Given the description of an element on the screen output the (x, y) to click on. 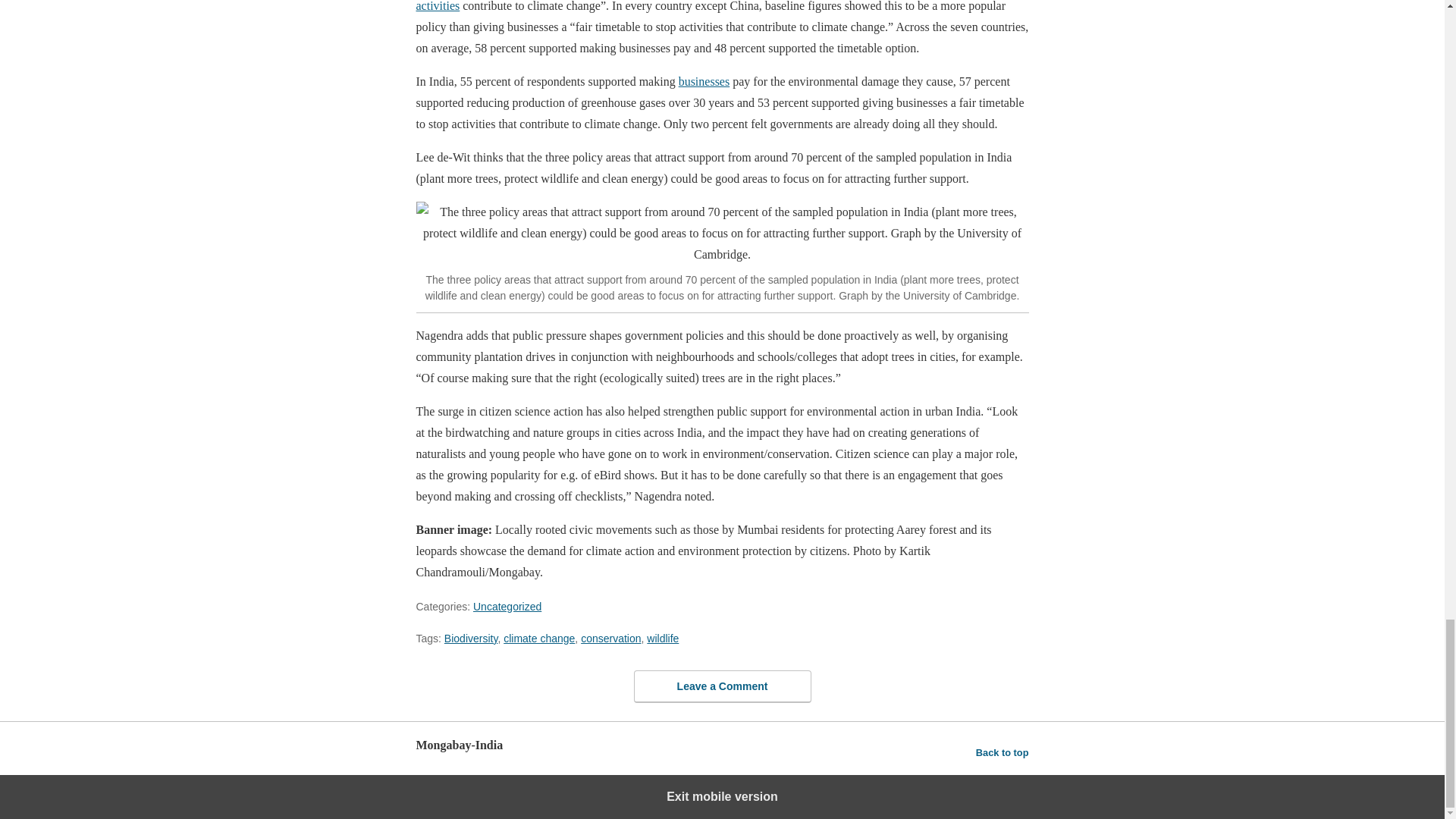
businesses (704, 81)
Uncategorized (507, 606)
activities (437, 6)
climate change (539, 638)
Back to top (1002, 752)
Leave a Comment (721, 686)
Biodiversity (470, 638)
wildlife (662, 638)
conservation (610, 638)
